Given the description of an element on the screen output the (x, y) to click on. 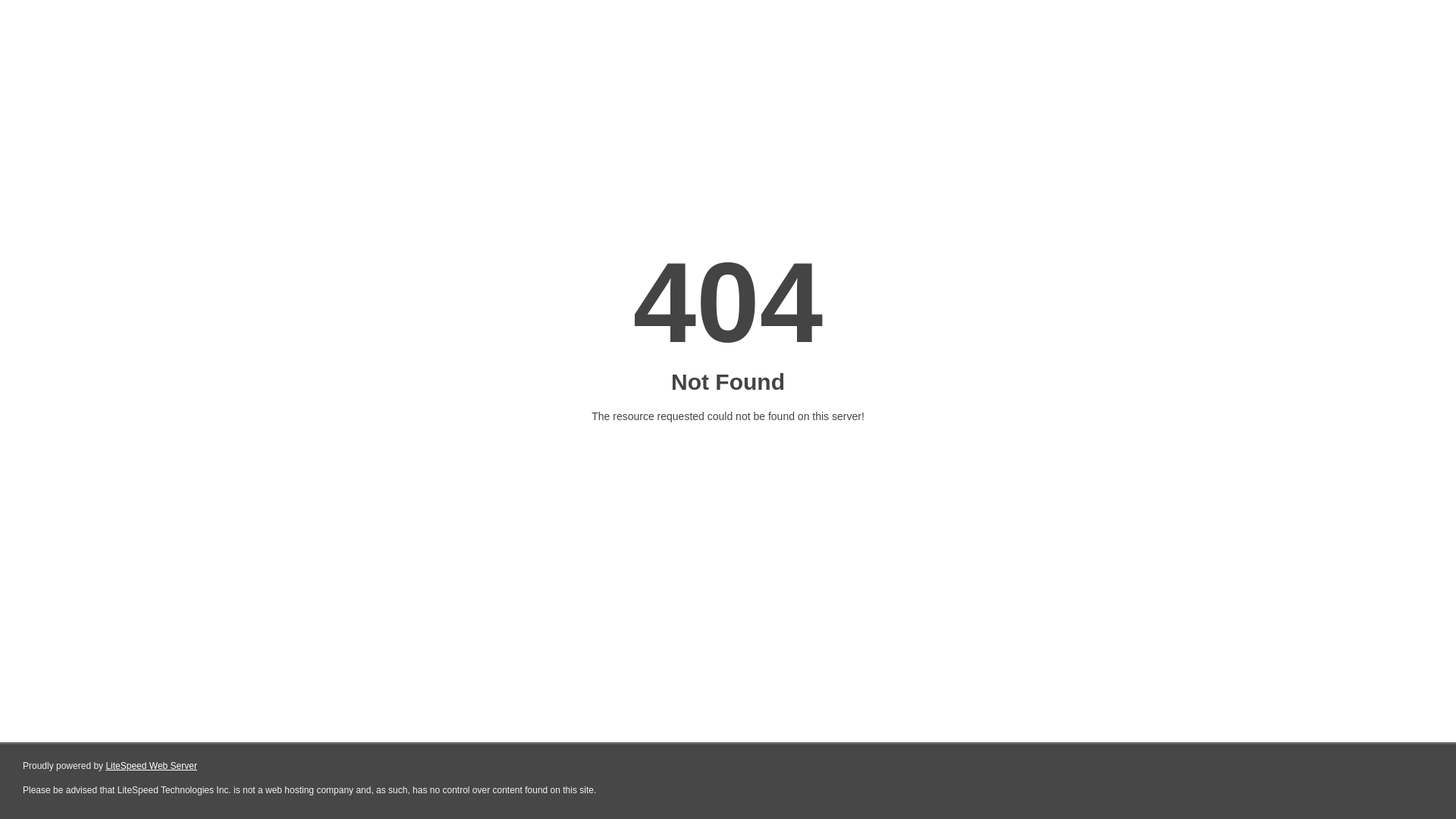
LiteSpeed Web Server Element type: text (151, 765)
